Given the description of an element on the screen output the (x, y) to click on. 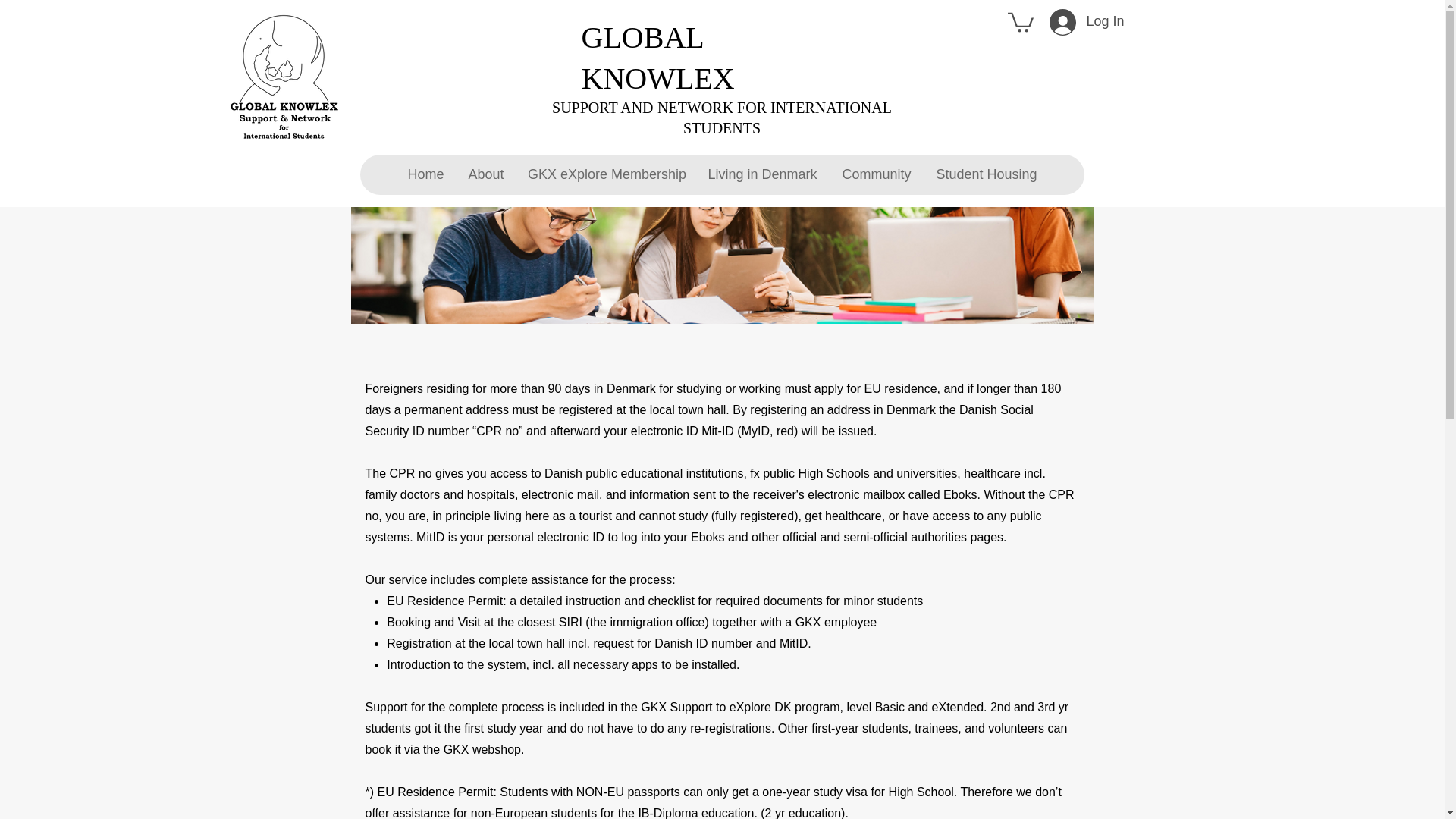
Living in Denmark (761, 174)
GKX eXplore Membership (605, 174)
About (485, 174)
Home (424, 174)
Student Housing (985, 174)
GKX-Global-KnowLex-Elephant-200x176-1.pn (283, 75)
Community (875, 174)
Log In (1063, 22)
